Given the description of an element on the screen output the (x, y) to click on. 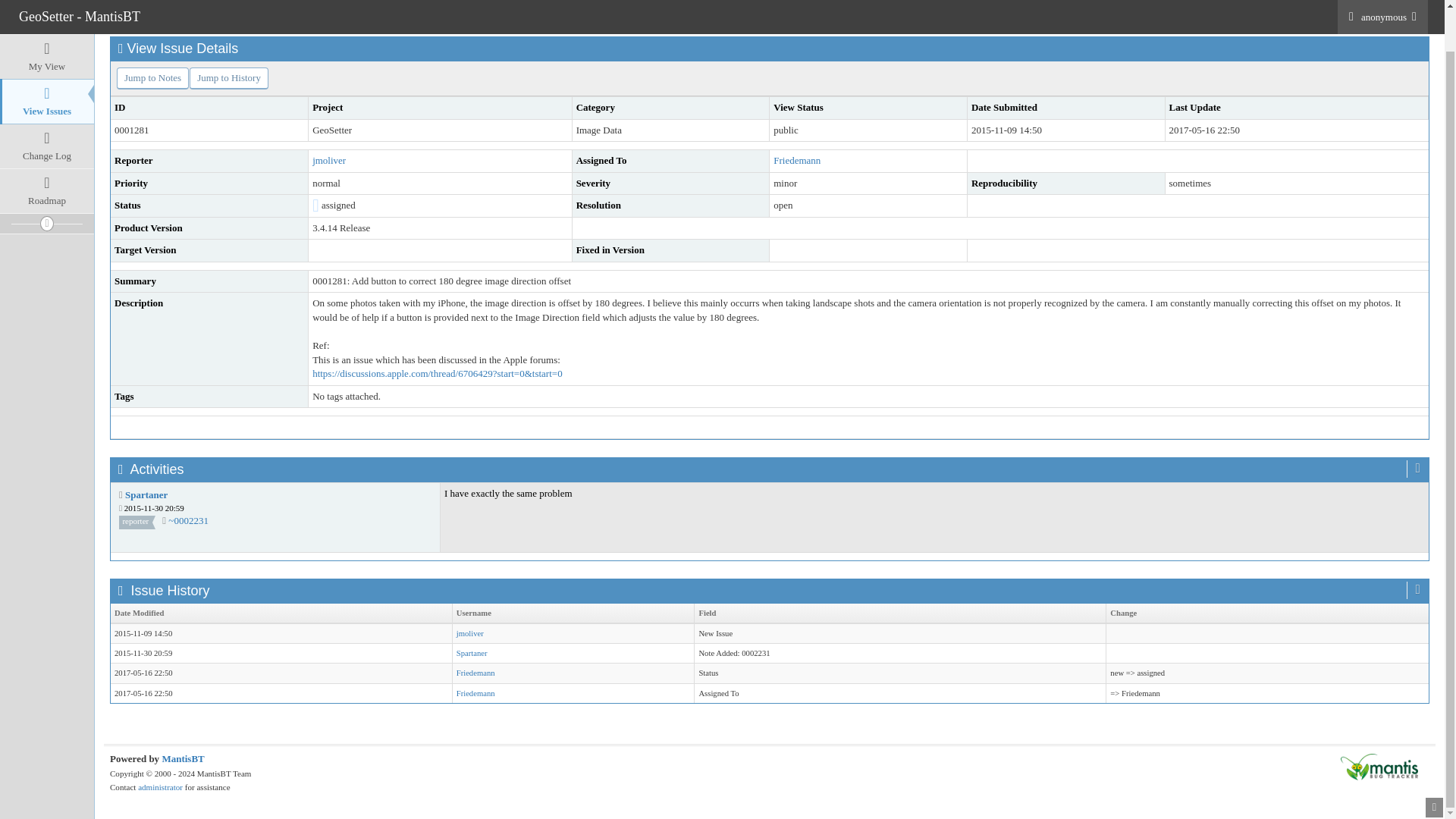
Friedemann (476, 673)
administrator (160, 786)
Signup for a new account (257, 12)
bug tracking software (182, 758)
MantisBT (182, 758)
Jump to History (228, 78)
Roadmap (47, 147)
My View (47, 18)
Login (191, 12)
